Given the description of an element on the screen output the (x, y) to click on. 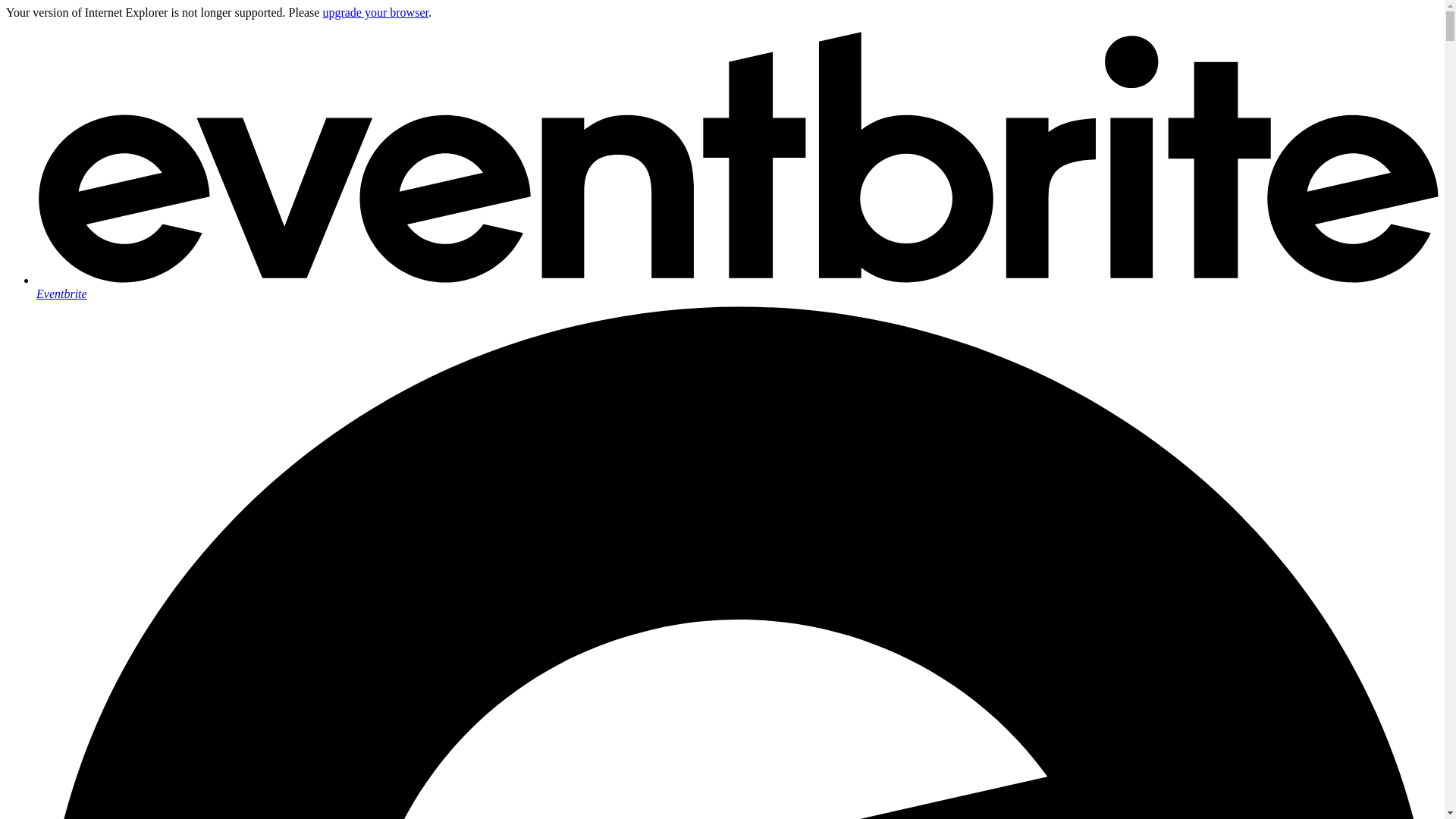
Eventbrite Element type: text (737, 286)
upgrade your browser Element type: text (375, 12)
